Given the description of an element on the screen output the (x, y) to click on. 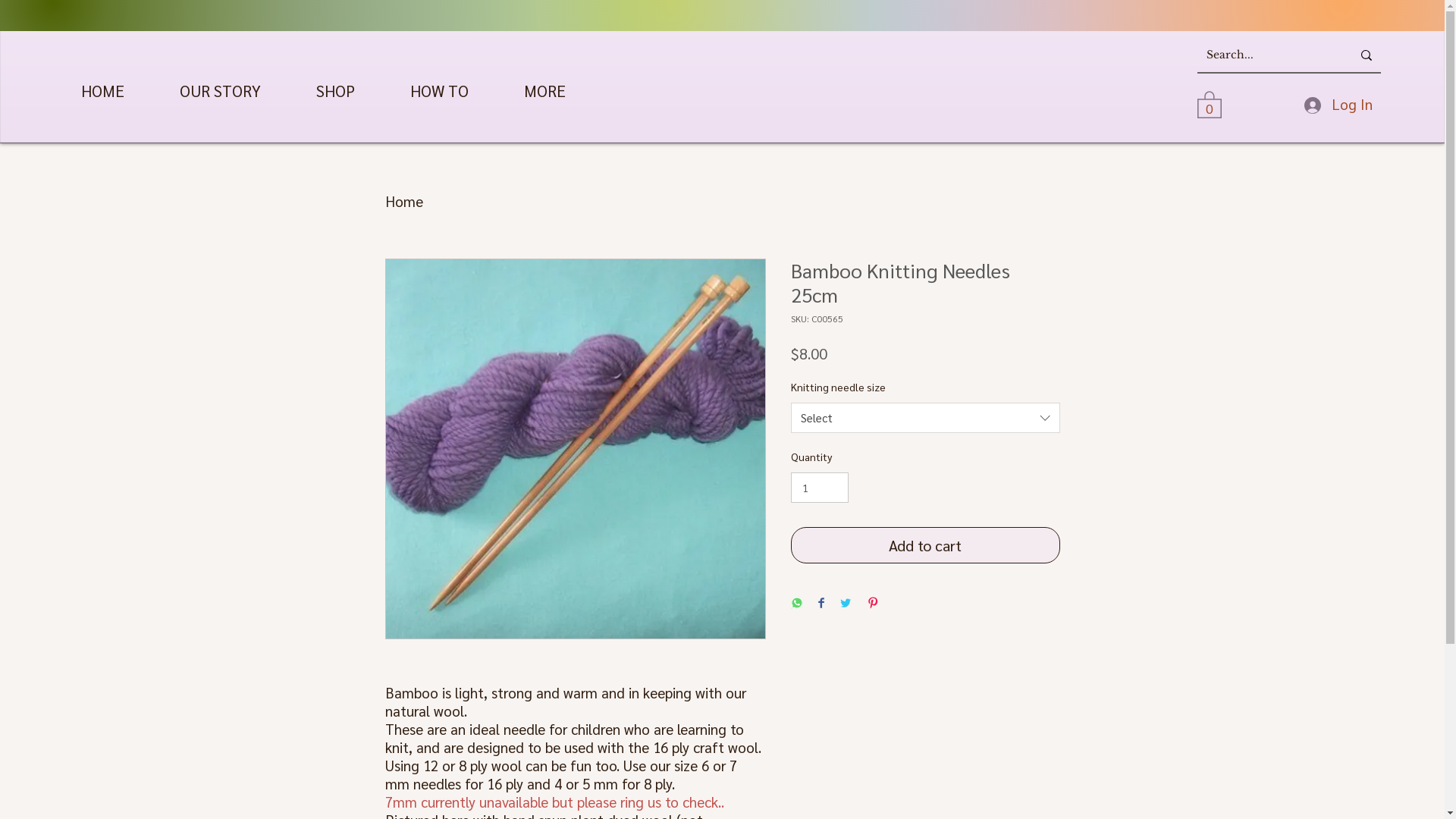
HOME Element type: text (102, 90)
Home Element type: text (404, 200)
Log In Element type: text (1336, 103)
0 Element type: text (1209, 103)
OUR STORY Element type: text (219, 90)
Add to cart Element type: text (924, 545)
Select Element type: text (924, 417)
